Given the description of an element on the screen output the (x, y) to click on. 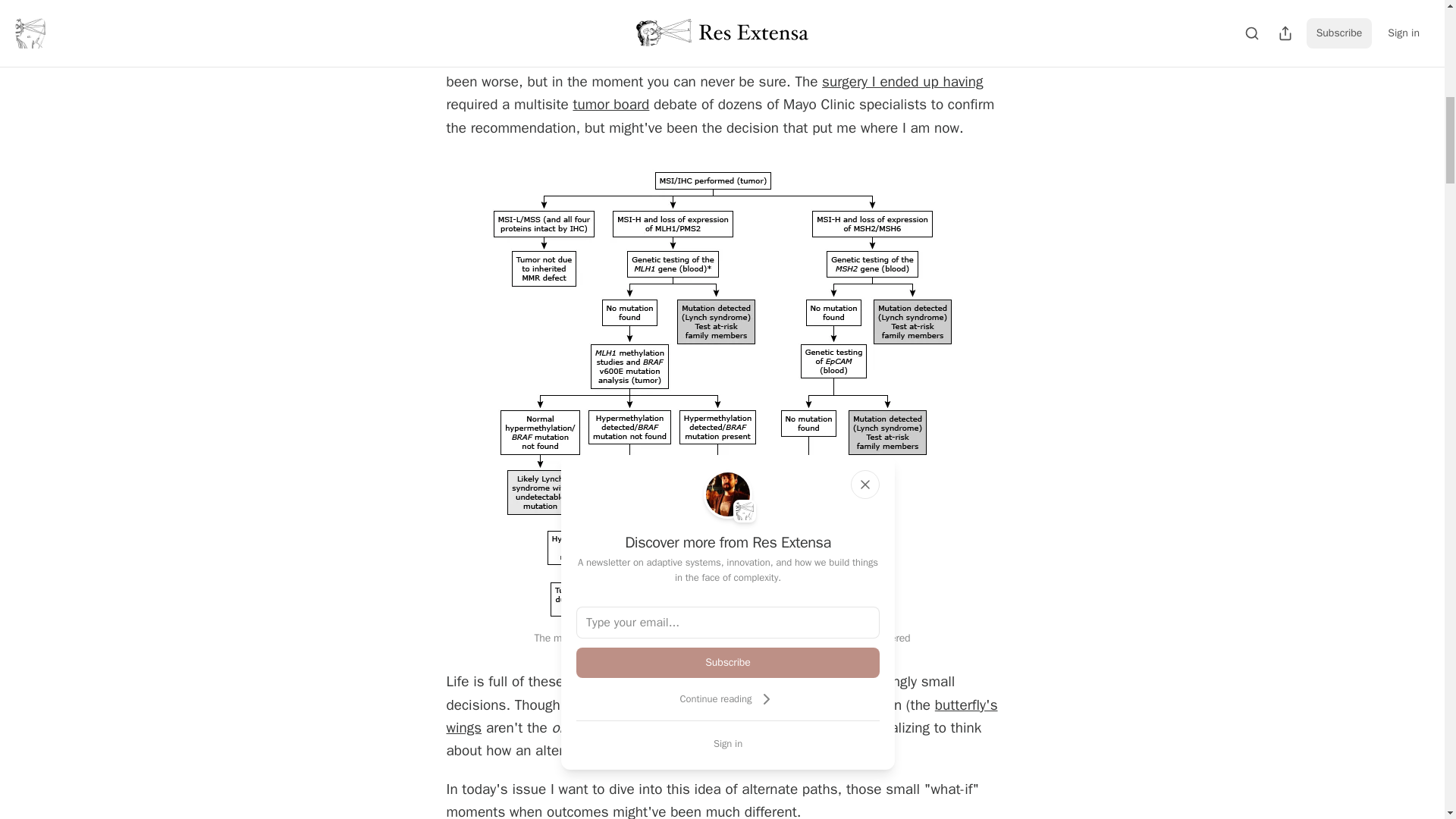
Sign in (727, 743)
butterfly's wings (721, 716)
surgery I ended up having (903, 81)
tumor board (610, 104)
Subscribe (727, 662)
Lynch syndrome (777, 637)
